Given the description of an element on the screen output the (x, y) to click on. 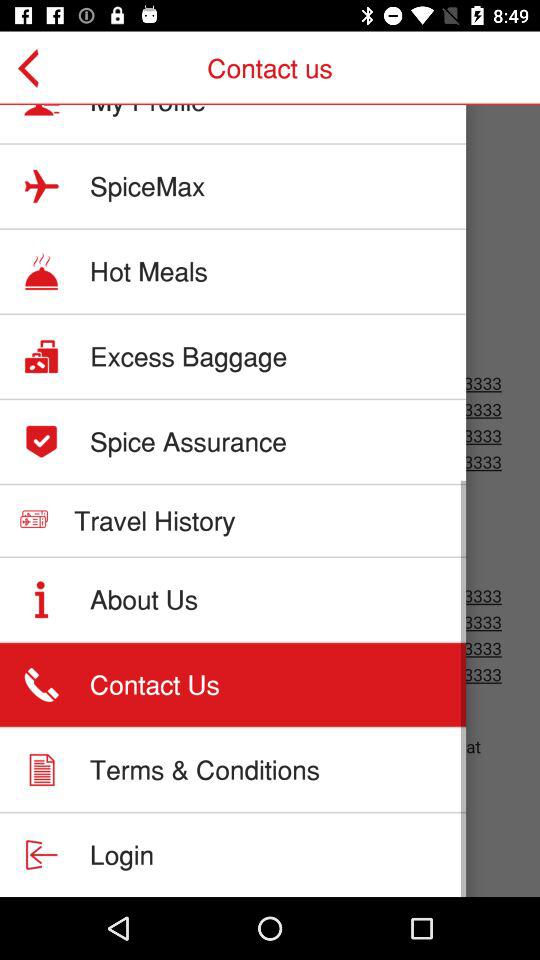
click the travel history (154, 520)
